Given the description of an element on the screen output the (x, y) to click on. 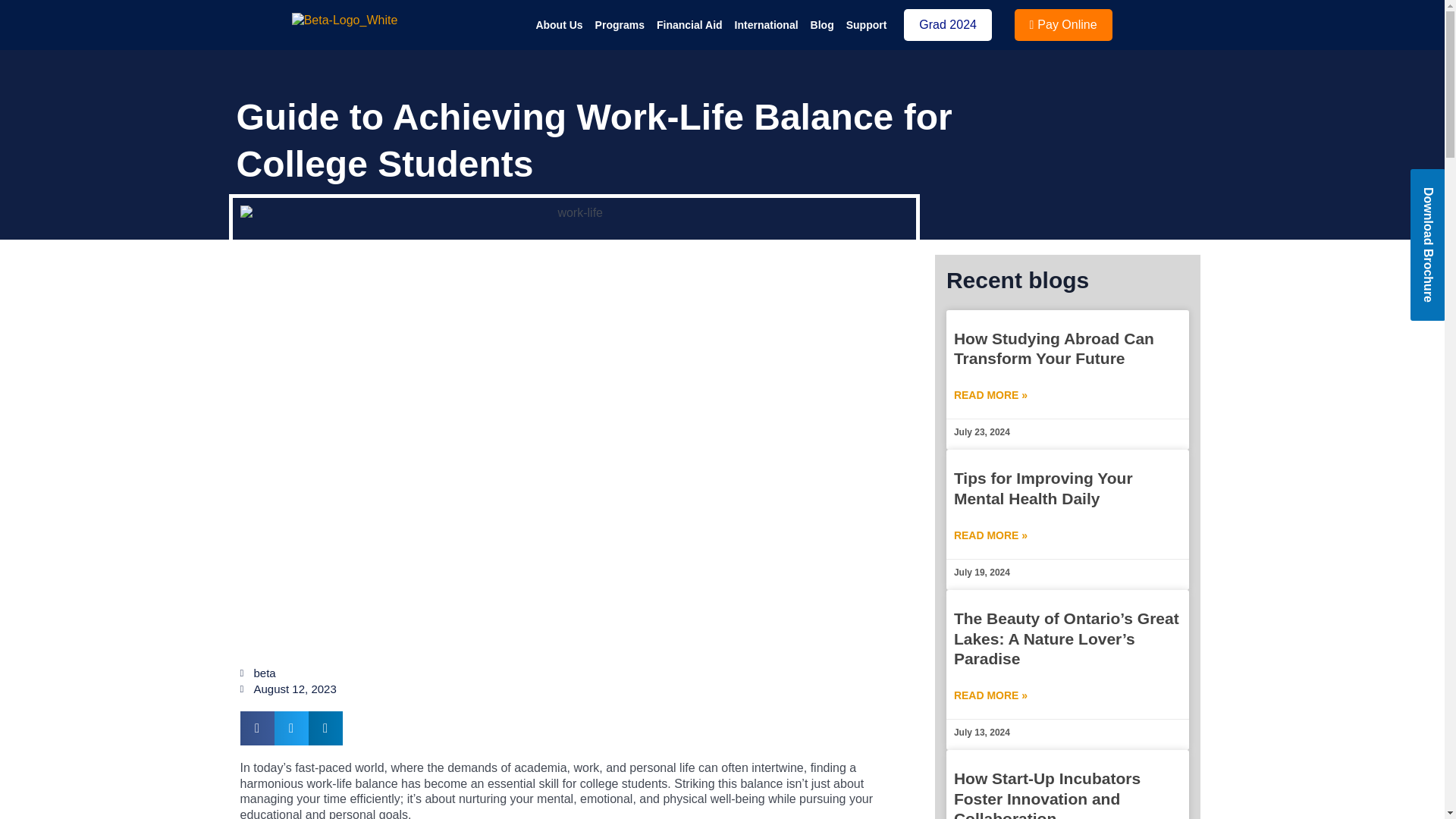
Support (866, 24)
Blog (822, 24)
Programs (619, 24)
International (767, 24)
About Us (558, 24)
Financial Aid (689, 24)
